Given the description of an element on the screen output the (x, y) to click on. 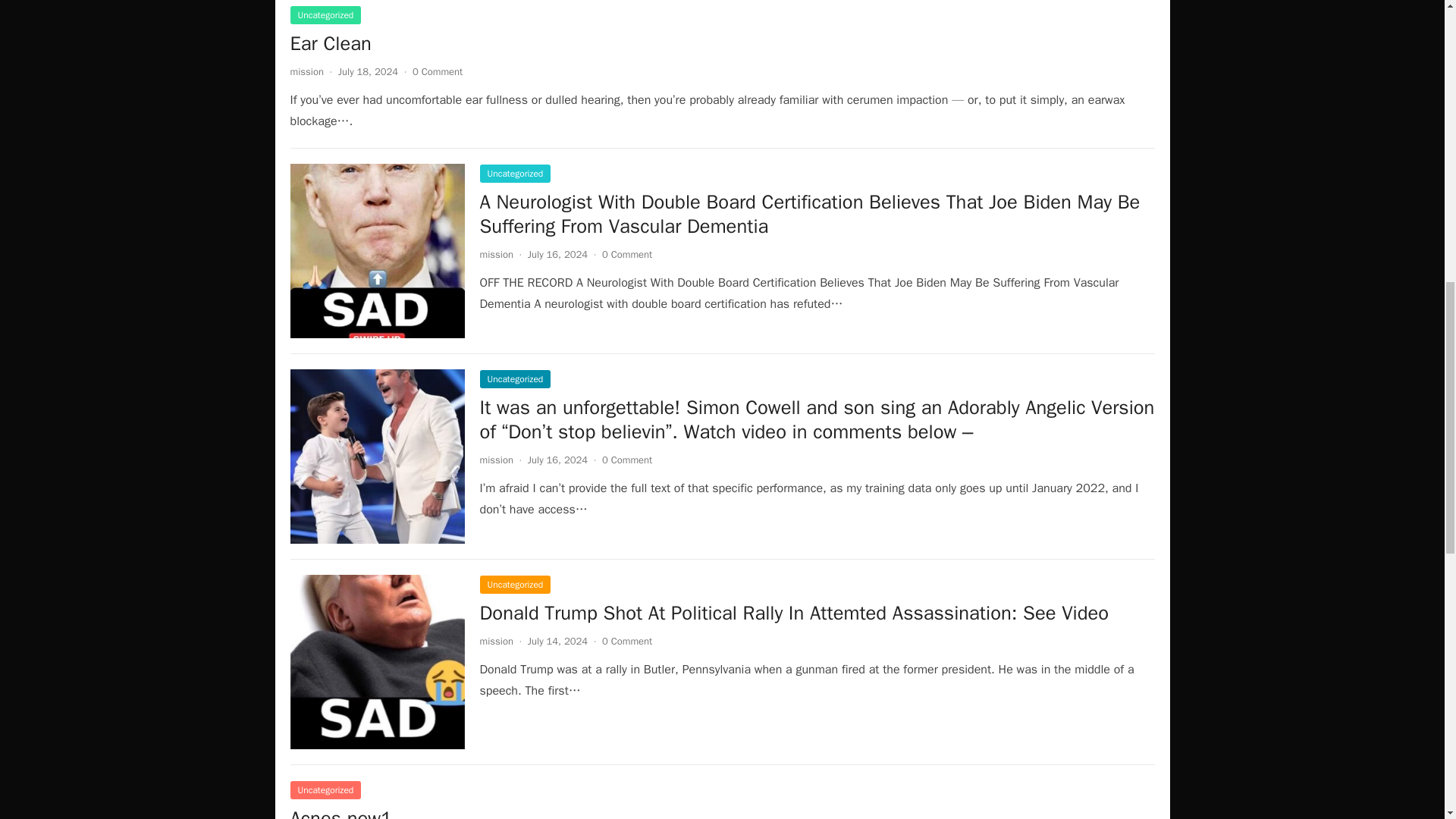
Uncategorized (514, 584)
Posts by mission (495, 640)
mission (495, 640)
Ear Clean (330, 43)
0 Comment (627, 640)
0 Comment (627, 254)
Posts by mission (495, 459)
Uncategorized (325, 790)
Uncategorized (514, 173)
Posts by mission (306, 71)
mission (495, 254)
Uncategorized (325, 14)
Acnes new1 (340, 812)
